Given the description of an element on the screen output the (x, y) to click on. 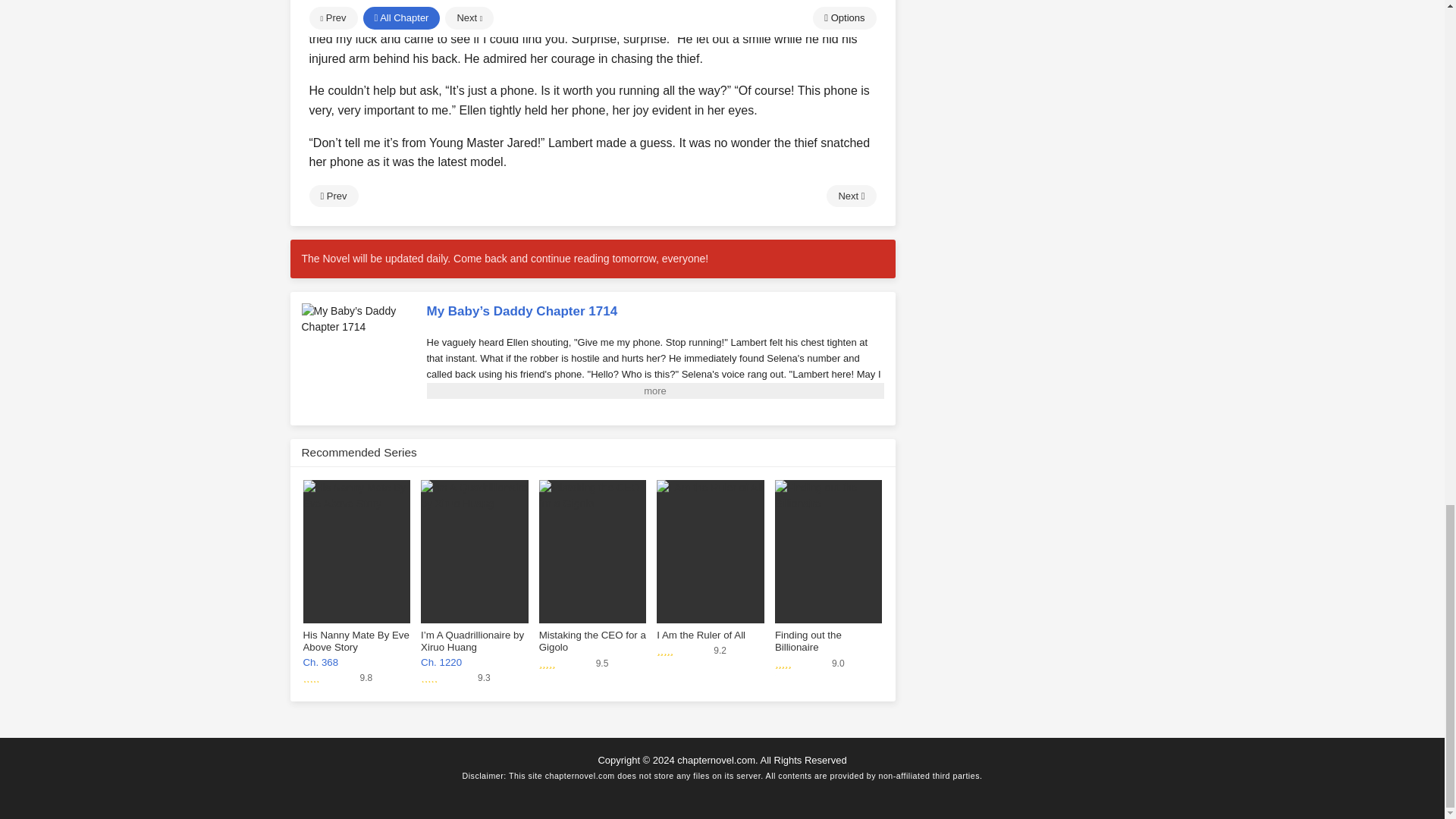
Mistaking the CEO for a Gigolo (710, 580)
I Am the Ruler of All (592, 556)
His Nanny Mate By Eve Above Story (710, 556)
Finding out the Billionaire (356, 556)
Prev (828, 556)
Next (333, 196)
